Given the description of an element on the screen output the (x, y) to click on. 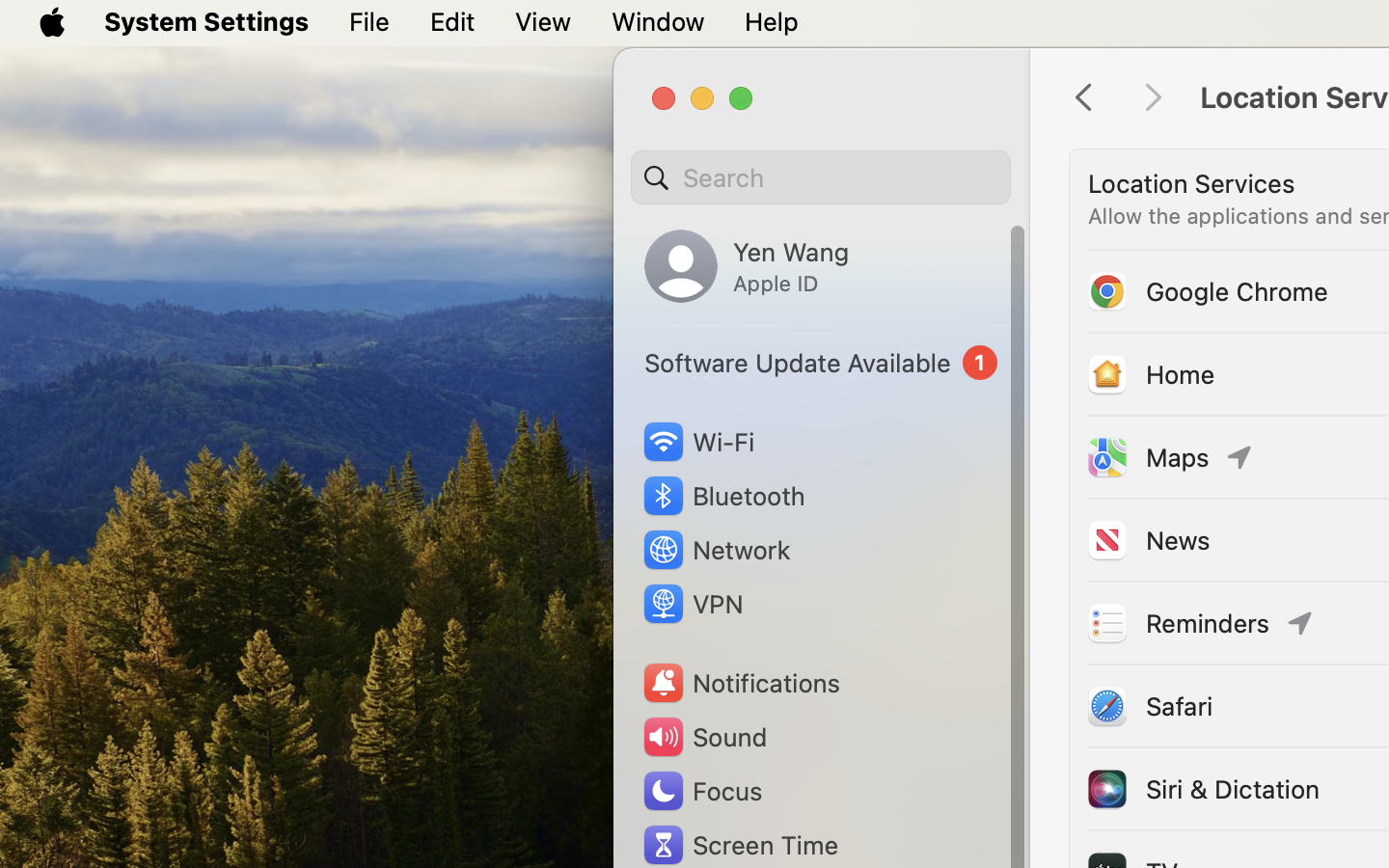
Safari Element type: AXStaticText (1148, 705)
Home Element type: AXStaticText (1149, 374)
Maps Element type: AXStaticText (1146, 457)
